Given the description of an element on the screen output the (x, y) to click on. 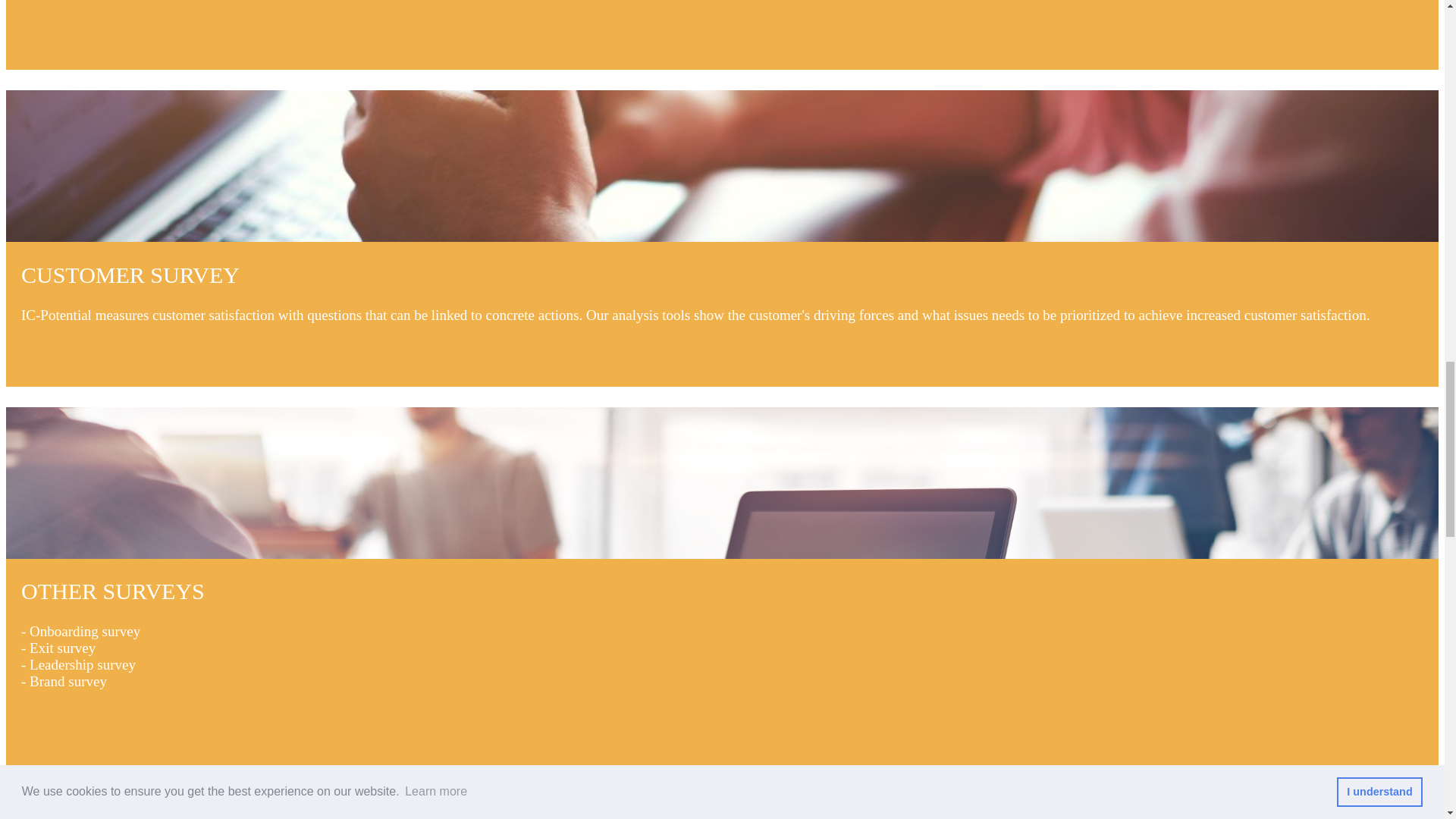
OTHER SURVEYS (722, 608)
CUSTOMER SURVEY (722, 292)
